Given the description of an element on the screen output the (x, y) to click on. 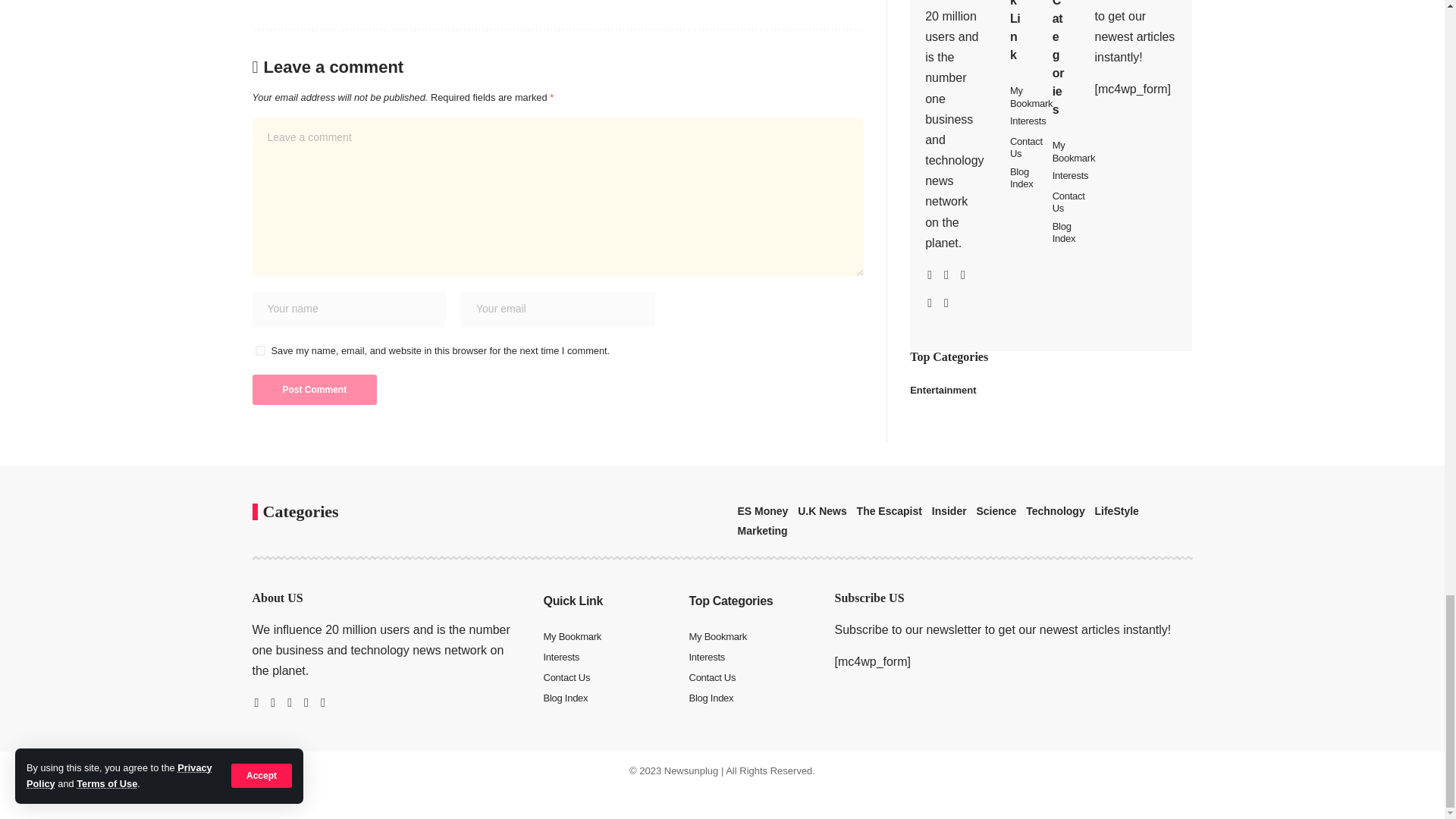
yes (259, 350)
Post Comment (314, 389)
